Given the description of an element on the screen output the (x, y) to click on. 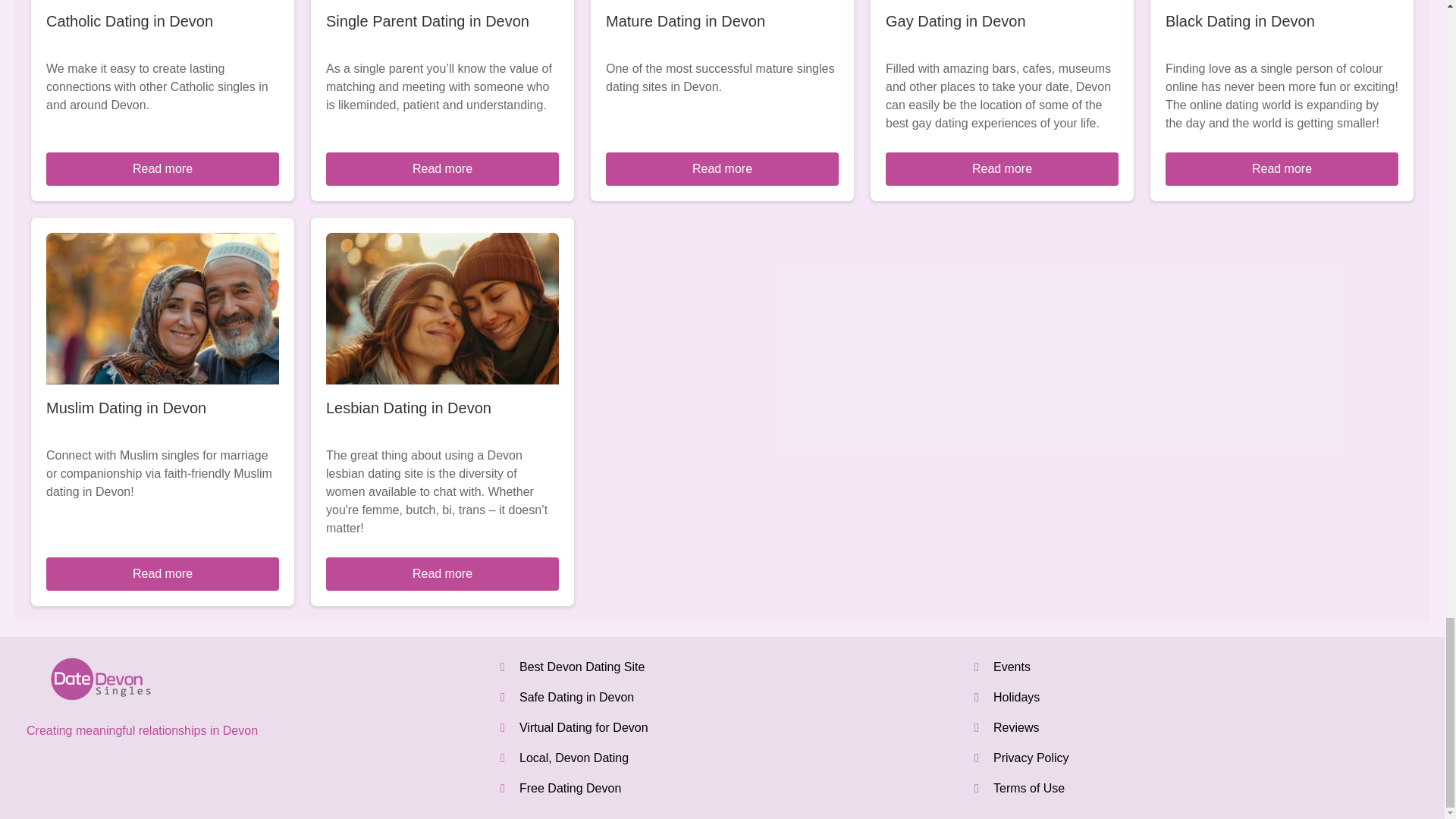
Events (1011, 666)
Read more (721, 168)
Free Dating Devon (570, 788)
Safe Dating in Devon (576, 697)
Best Devon Dating Site (582, 666)
Read more (442, 168)
Virtual Dating for Devon (583, 727)
Read more (1001, 168)
Read more (1281, 168)
Reviews (1015, 727)
